Given the description of an element on the screen output the (x, y) to click on. 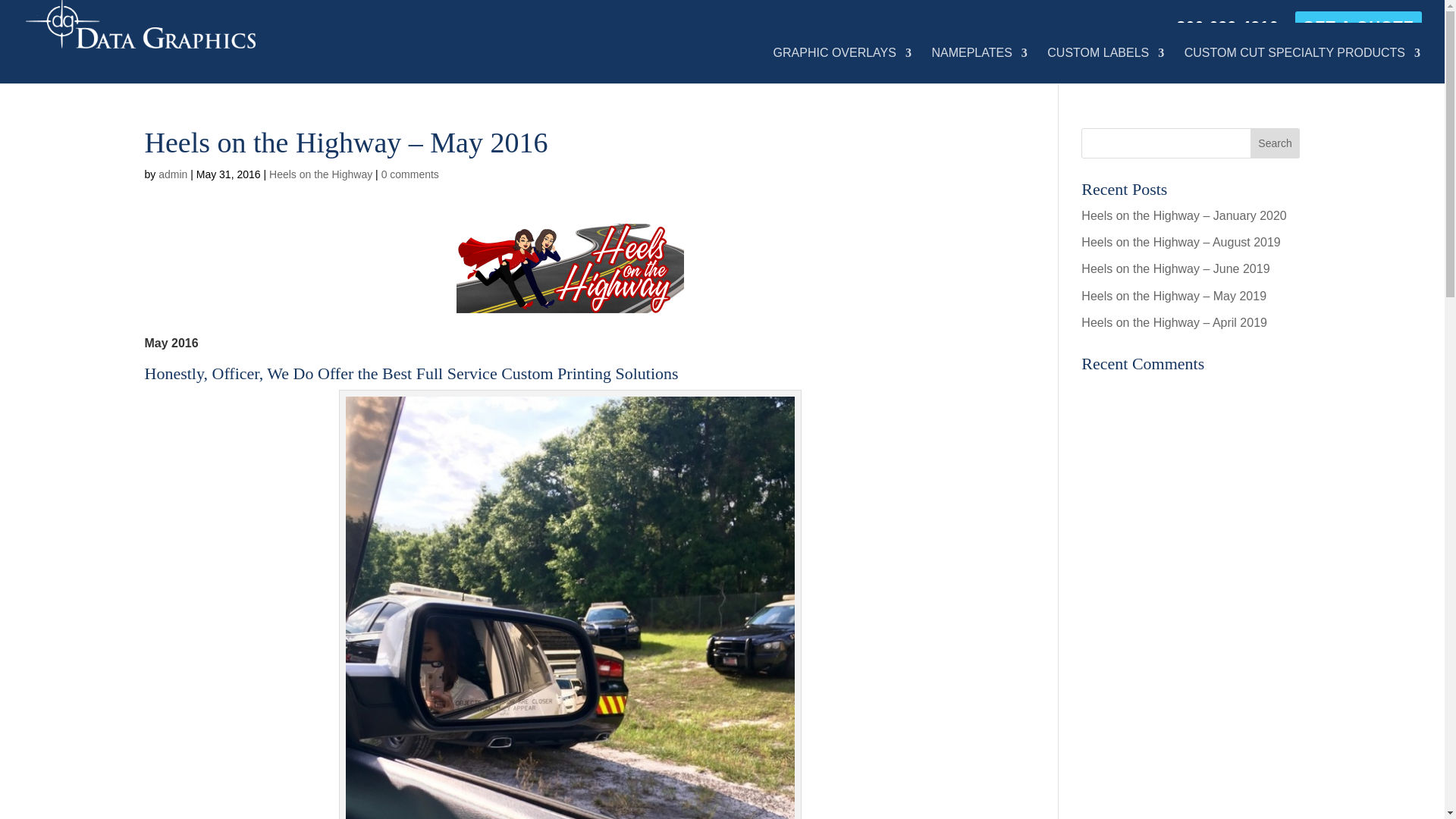
Search (1275, 142)
Heels on the Highway (320, 174)
Search (1275, 142)
800.639.4316 (1227, 31)
CUSTOM CUT SPECIALTY PRODUCTS (1303, 65)
GET A QUOTE (1358, 31)
NAMEPLATES (978, 65)
Posts by admin (172, 174)
admin (172, 174)
CUSTOM LABELS (1104, 65)
GRAPHIC OVERLAYS (842, 65)
0 comments (410, 174)
